Given the description of an element on the screen output the (x, y) to click on. 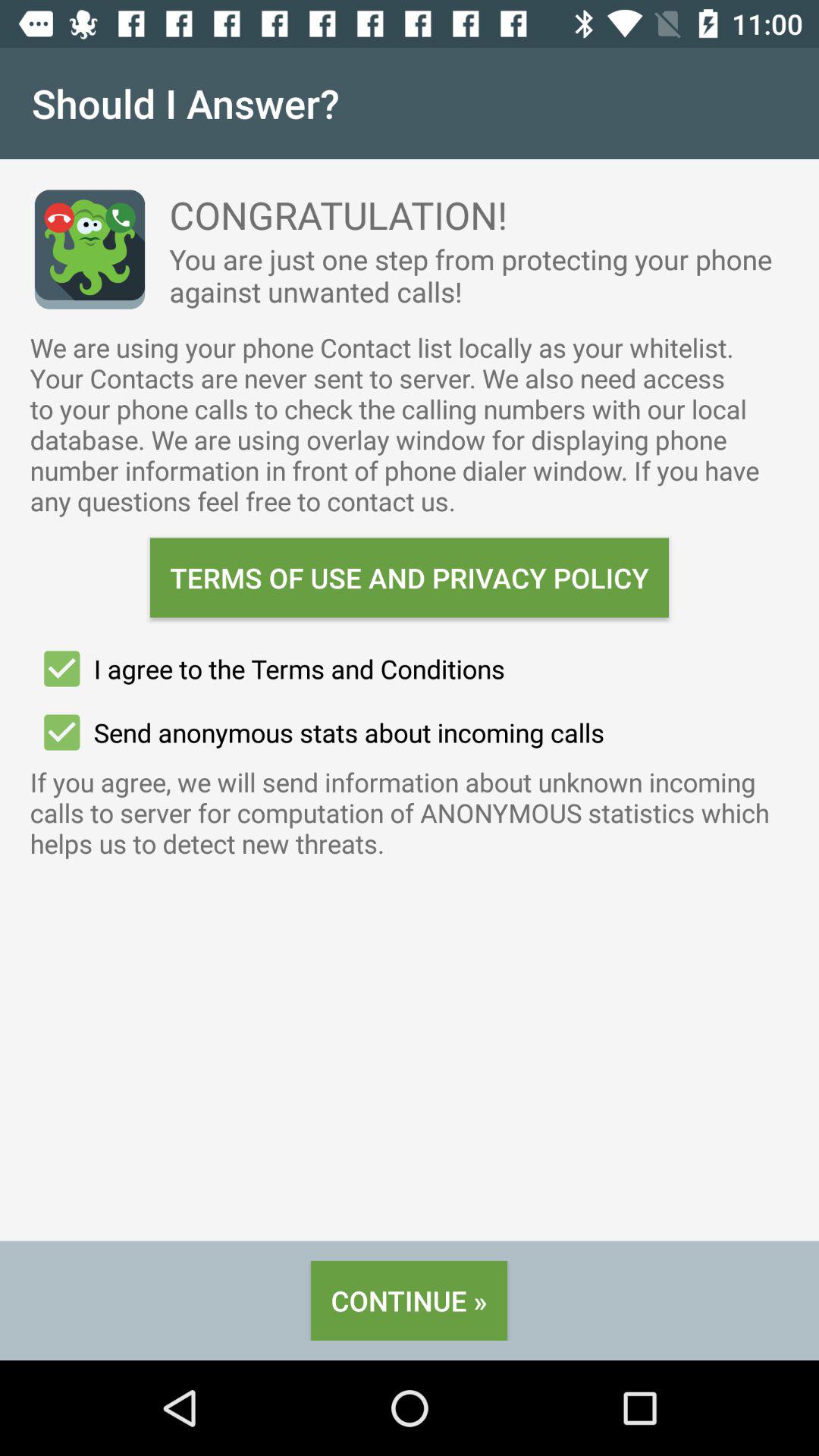
choose icon above i agree to (409, 577)
